Given the description of an element on the screen output the (x, y) to click on. 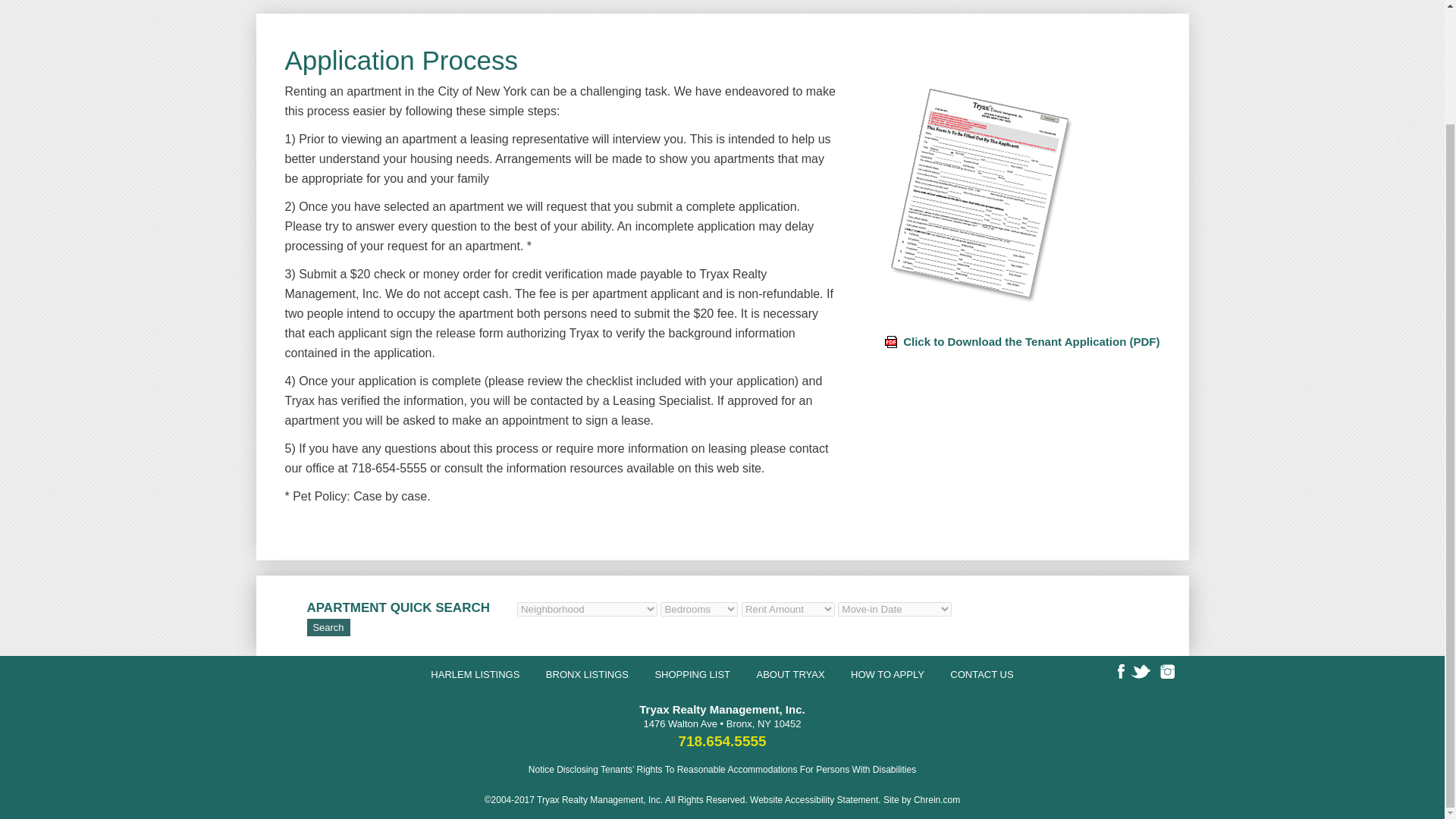
CONTACT US (981, 674)
ABOUT TRYAX (791, 674)
Chrein.com (936, 799)
BRONX LISTINGS (587, 674)
SHOPPING LIST (691, 674)
Bronx Listings (587, 674)
Search (327, 627)
Website Accessibility Statement (813, 799)
Harlem Listings (474, 674)
HARLEM LISTINGS (474, 674)
Search (327, 627)
HOW TO APPLY (887, 674)
Shopping List (691, 674)
